Given the description of an element on the screen output the (x, y) to click on. 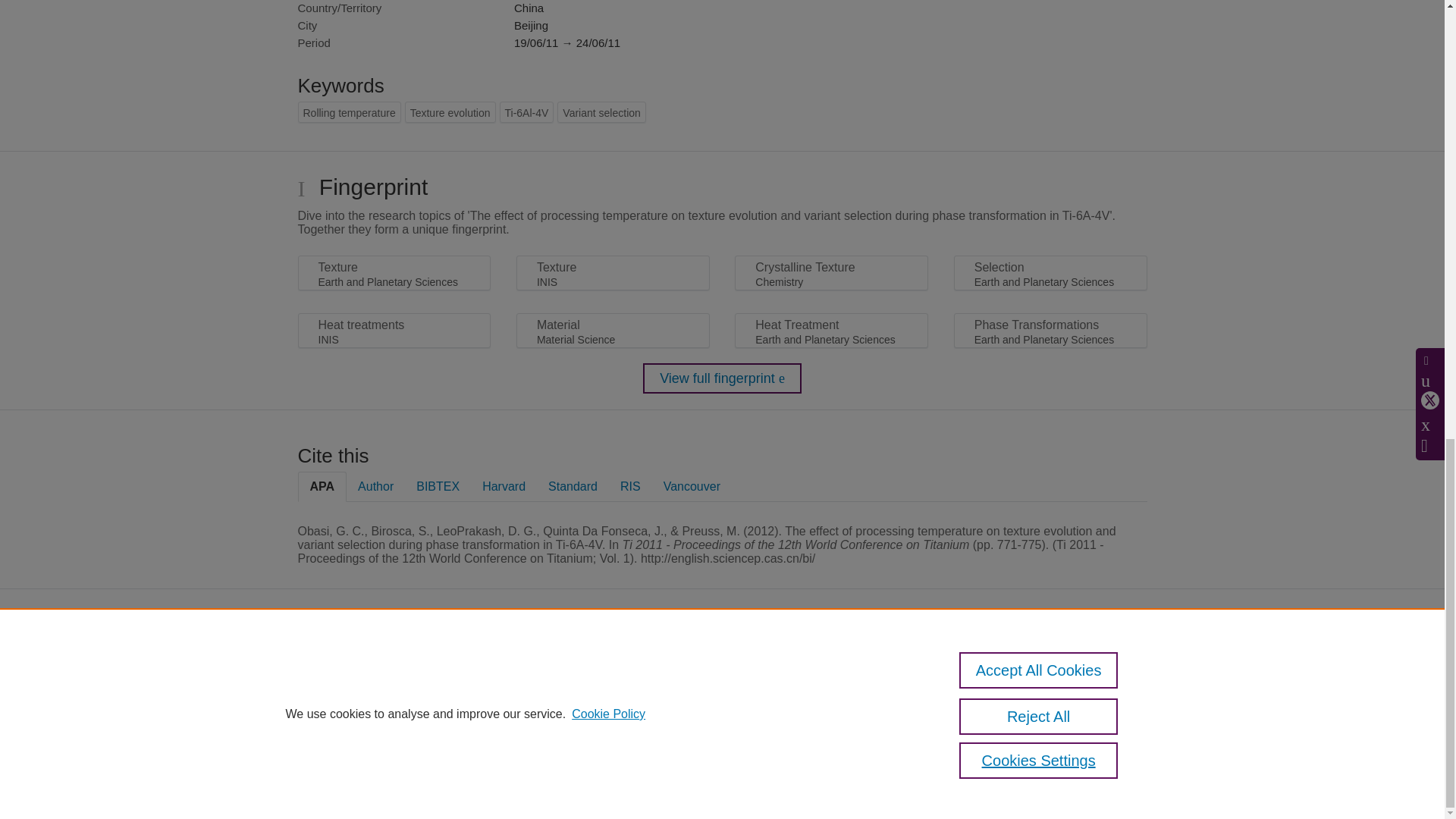
Pure (515, 664)
Scopus (547, 664)
View full fingerprint (722, 378)
